Given the description of an element on the screen output the (x, y) to click on. 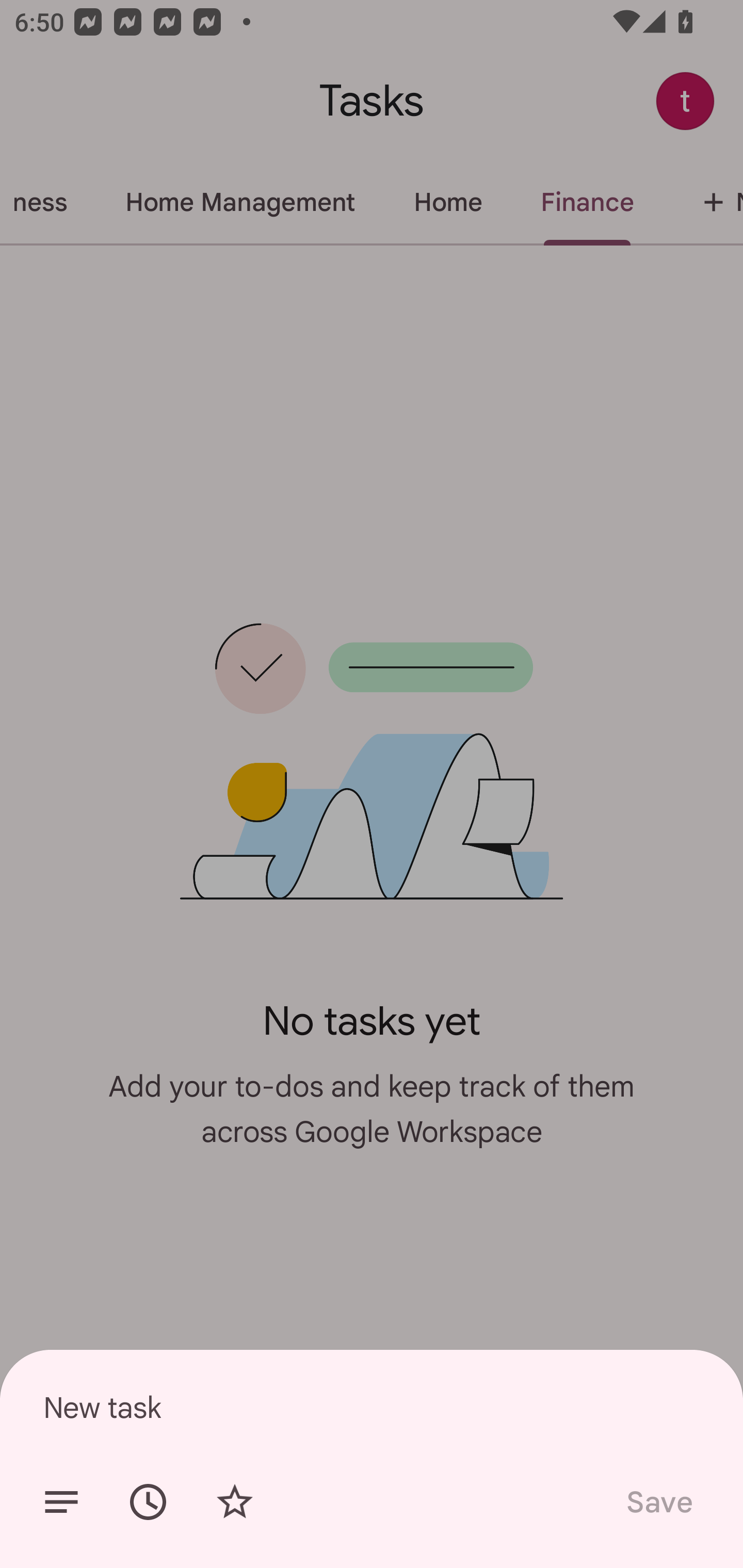
New task (371, 1407)
Save (659, 1501)
Add details (60, 1501)
Set date/time (147, 1501)
Add star (234, 1501)
